Given the description of an element on the screen output the (x, y) to click on. 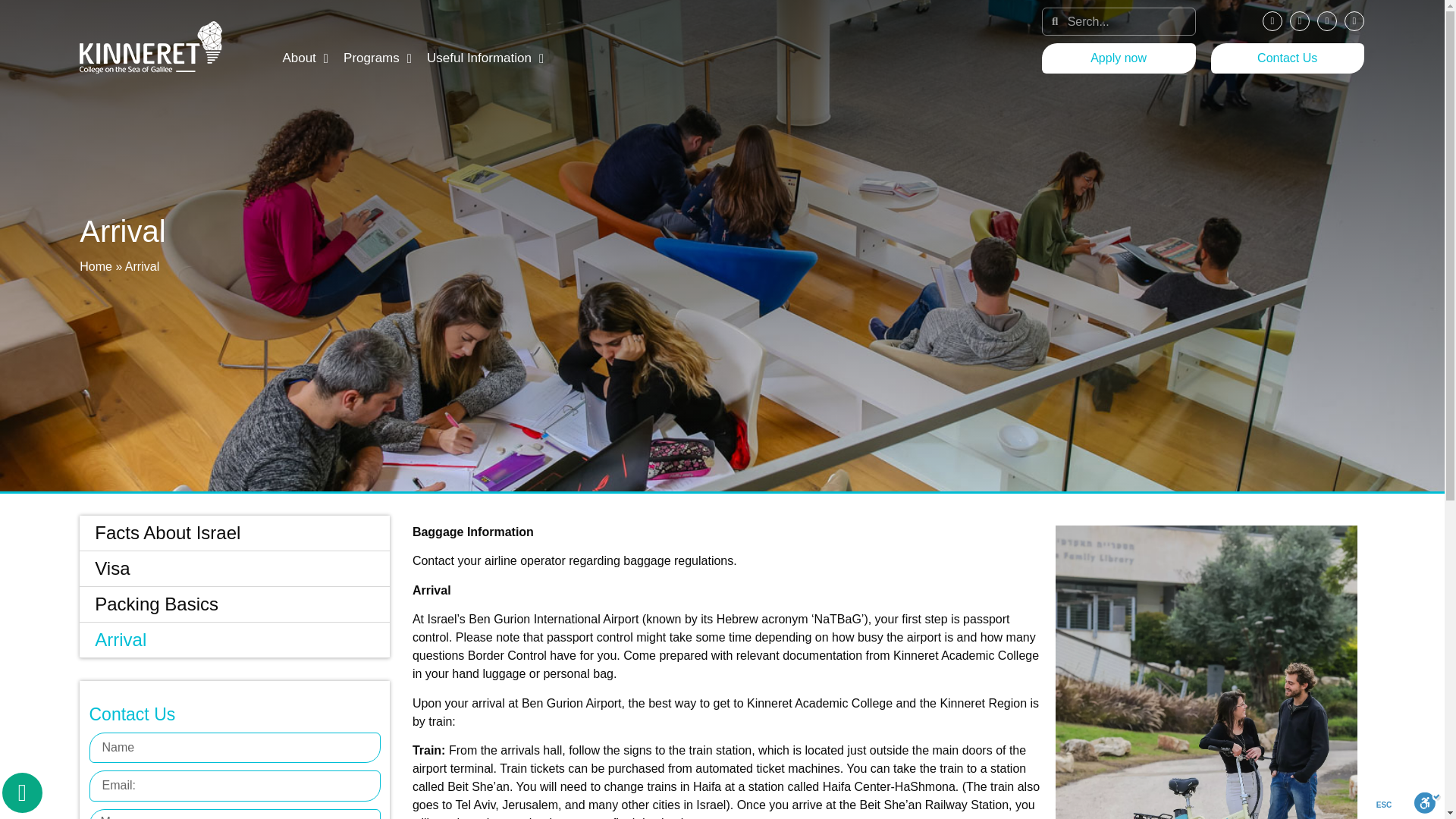
Contact Us (1287, 57)
About (305, 58)
Programs (377, 58)
Useful Information (485, 58)
Apply now (1118, 58)
